Given the description of an element on the screen output the (x, y) to click on. 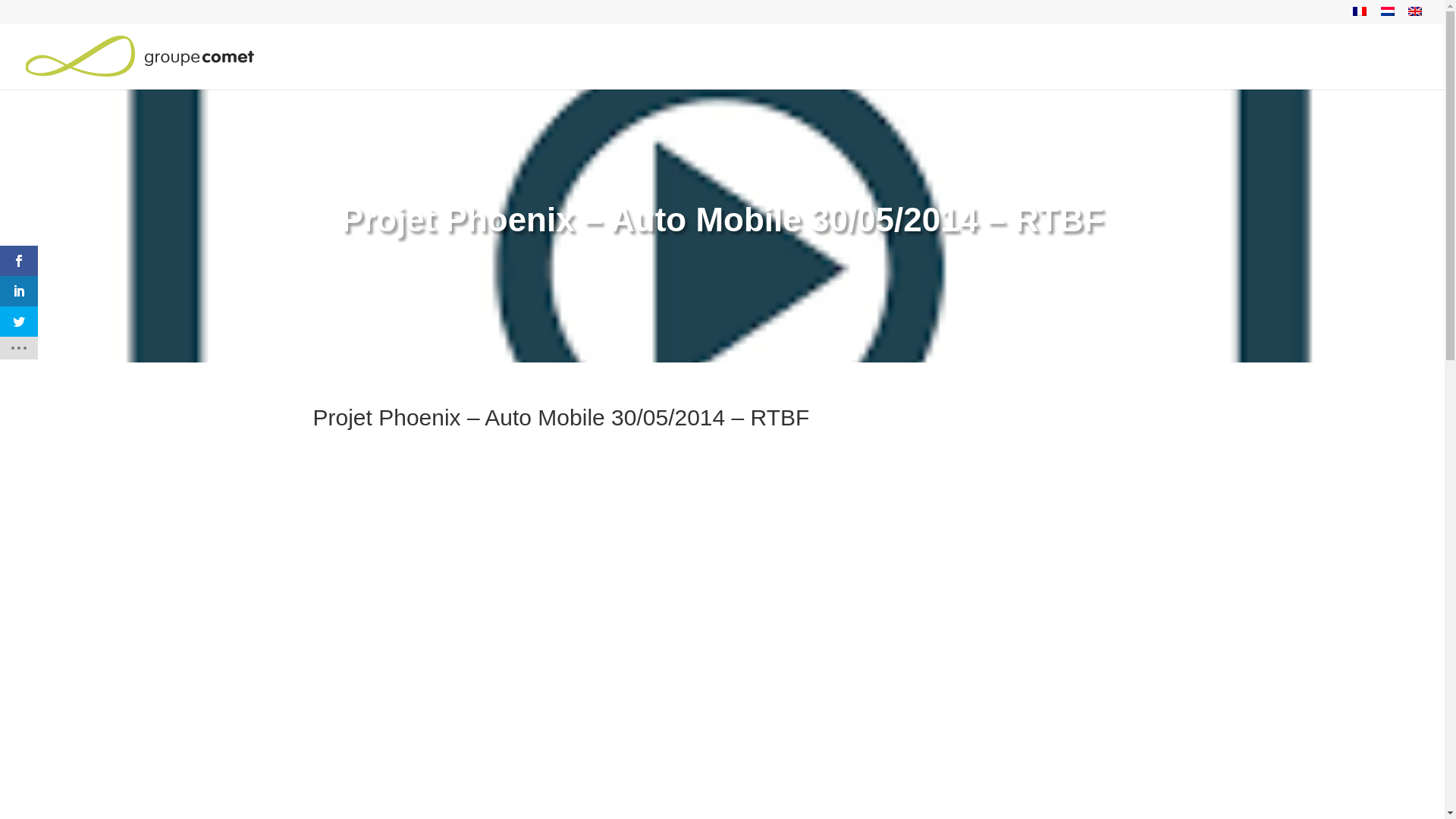
English Element type: hover (1414, 10)
Nederlands Element type: hover (1387, 10)
